Given the description of an element on the screen output the (x, y) to click on. 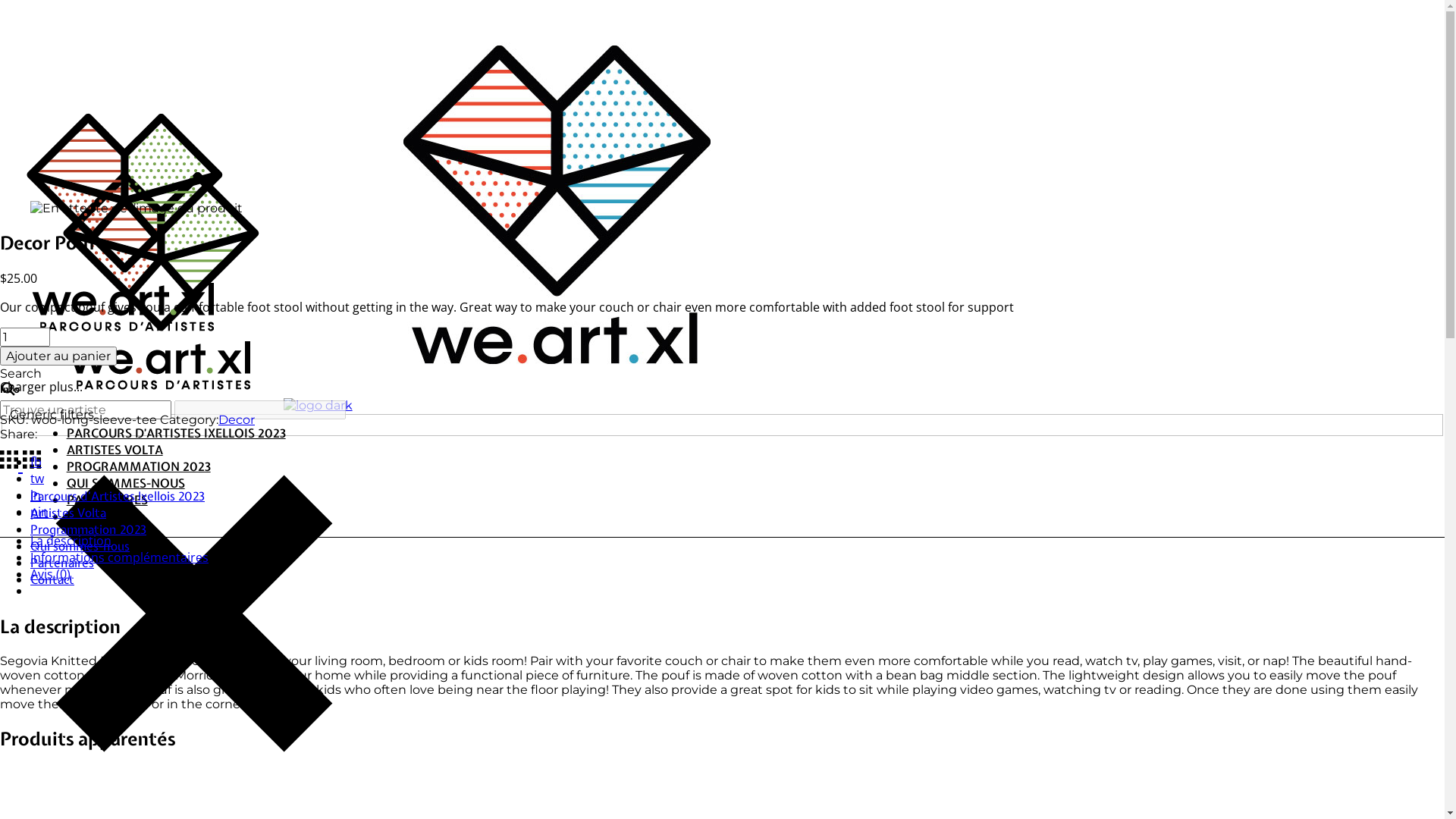
QUI SOMMES-NOUS Element type: text (125, 482)
Qui sommes-nous Element type: text (79, 545)
CONTACT Element type: text (94, 516)
La description Element type: text (70, 540)
Qty Element type: hover (25, 336)
Programmation 2023 Element type: text (88, 528)
Charger plus... Element type: text (41, 386)
PARTENAIRES Element type: text (106, 499)
Artistes Volta Element type: text (68, 512)
Partenaires Element type: text (62, 562)
Ajouter au panier Element type: text (58, 355)
PROGRAMMATION 2023 Element type: text (138, 466)
ARTISTES VOLTA Element type: text (114, 449)
ln Element type: text (35, 494)
Avis (0) Element type: text (50, 573)
fb Element type: text (35, 461)
pin Element type: text (39, 511)
tw Element type: text (36, 478)
Decor Element type: text (236, 419)
Contact Element type: text (52, 579)
